Given the description of an element on the screen output the (x, y) to click on. 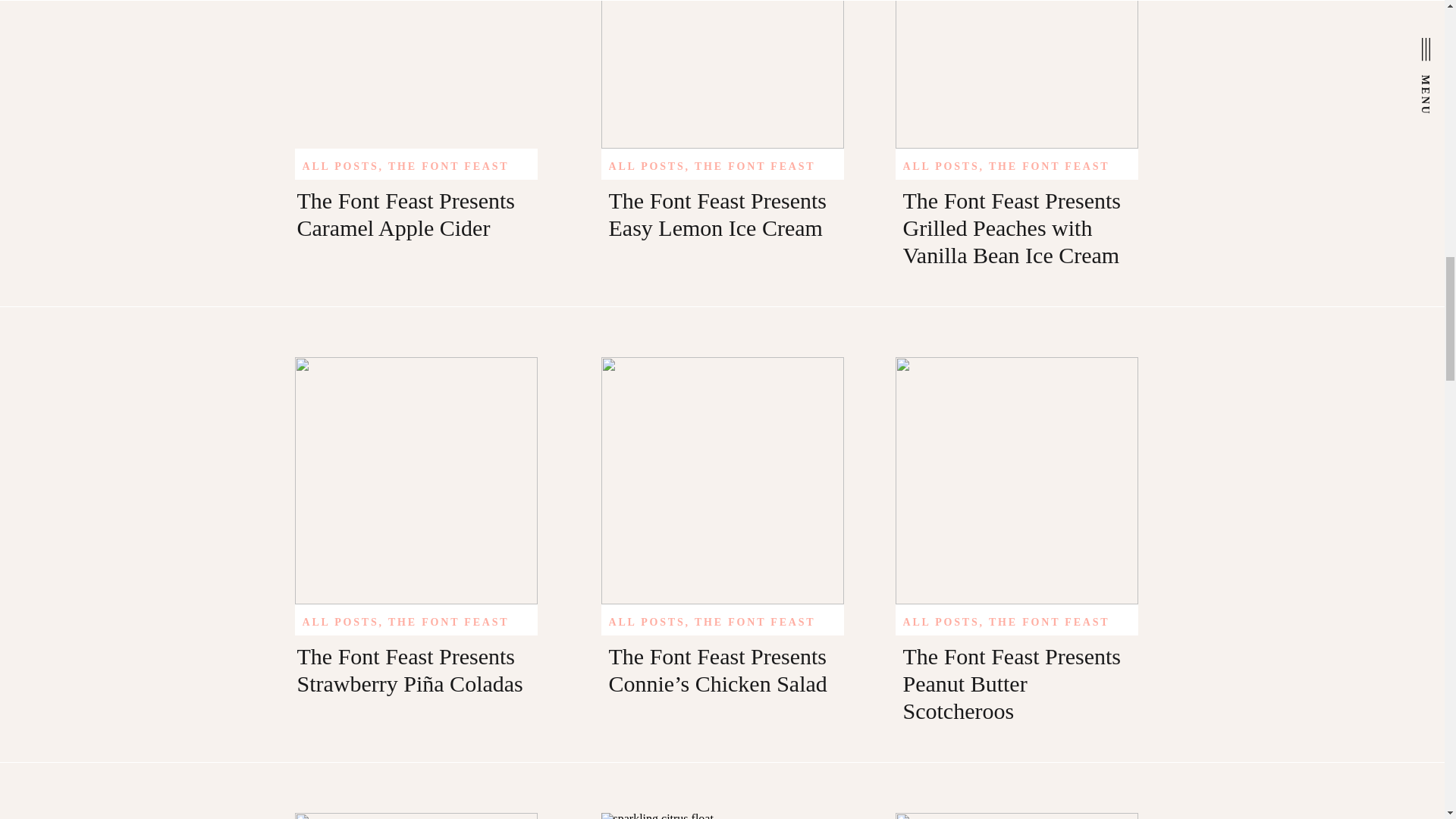
The Font Feast Presents Peanut Butter Scotcheroos (1016, 480)
The Font Feast Presents Sparkling Citrus Floats (721, 816)
The Font Feast Presents Caramel Apple Cider (415, 74)
The Font Feast Presents Caramel Apple Cider (406, 214)
The Font Feast Presents Mallowmint Cupcakes (1016, 816)
The Font Feast Presents Easy Lemon Ice Cream (721, 74)
